Given the description of an element on the screen output the (x, y) to click on. 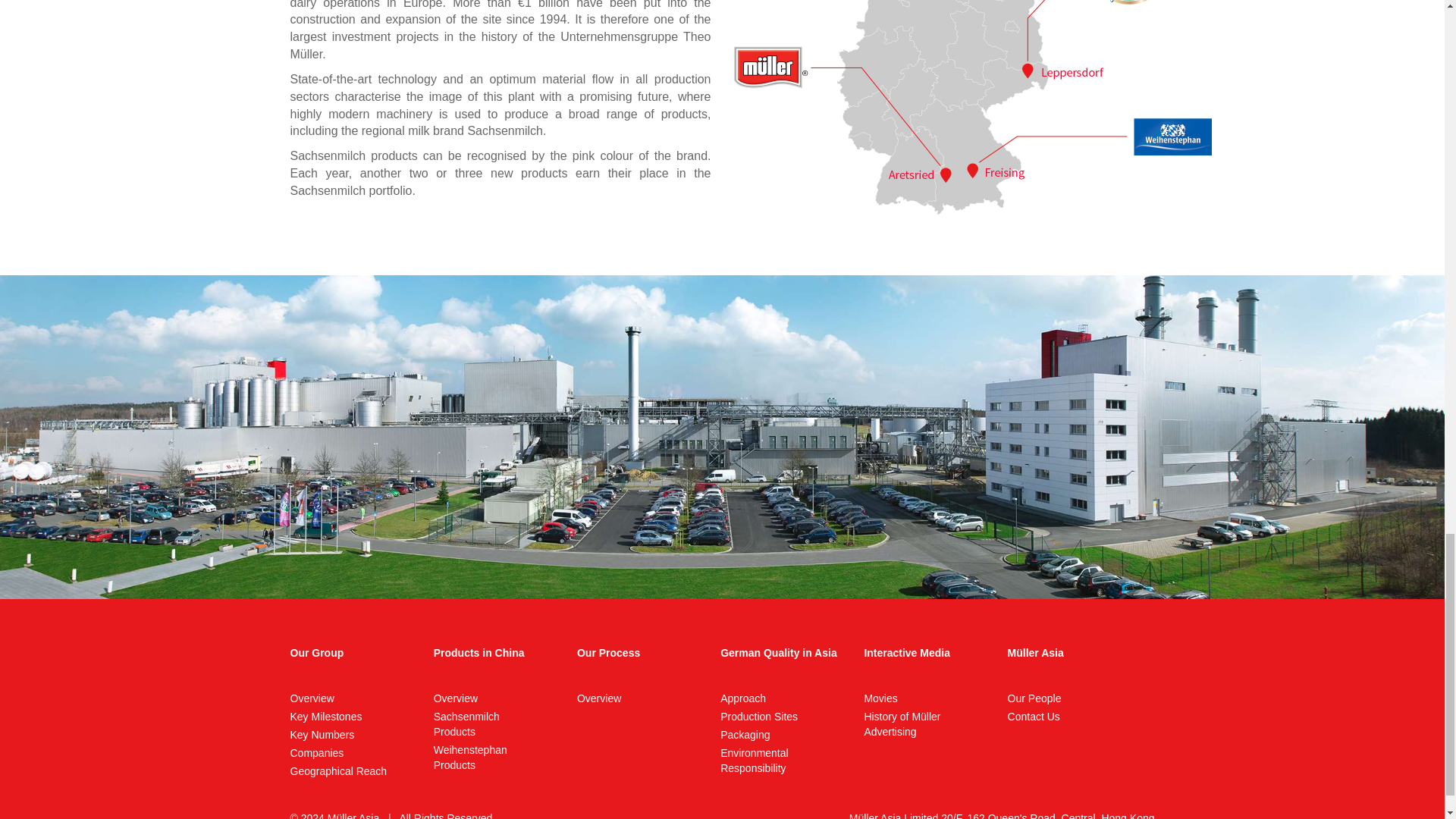
Key Milestones (325, 716)
Key Numbers (321, 734)
Overview (455, 698)
Products in China (478, 653)
Interactive Media (469, 757)
Our Process (906, 653)
Production Sites (608, 653)
Environmental Responsibility (758, 716)
Overview (754, 759)
Packaging (598, 698)
Contact Us (745, 734)
Approach (466, 723)
Companies (1033, 716)
